Given the description of an element on the screen output the (x, y) to click on. 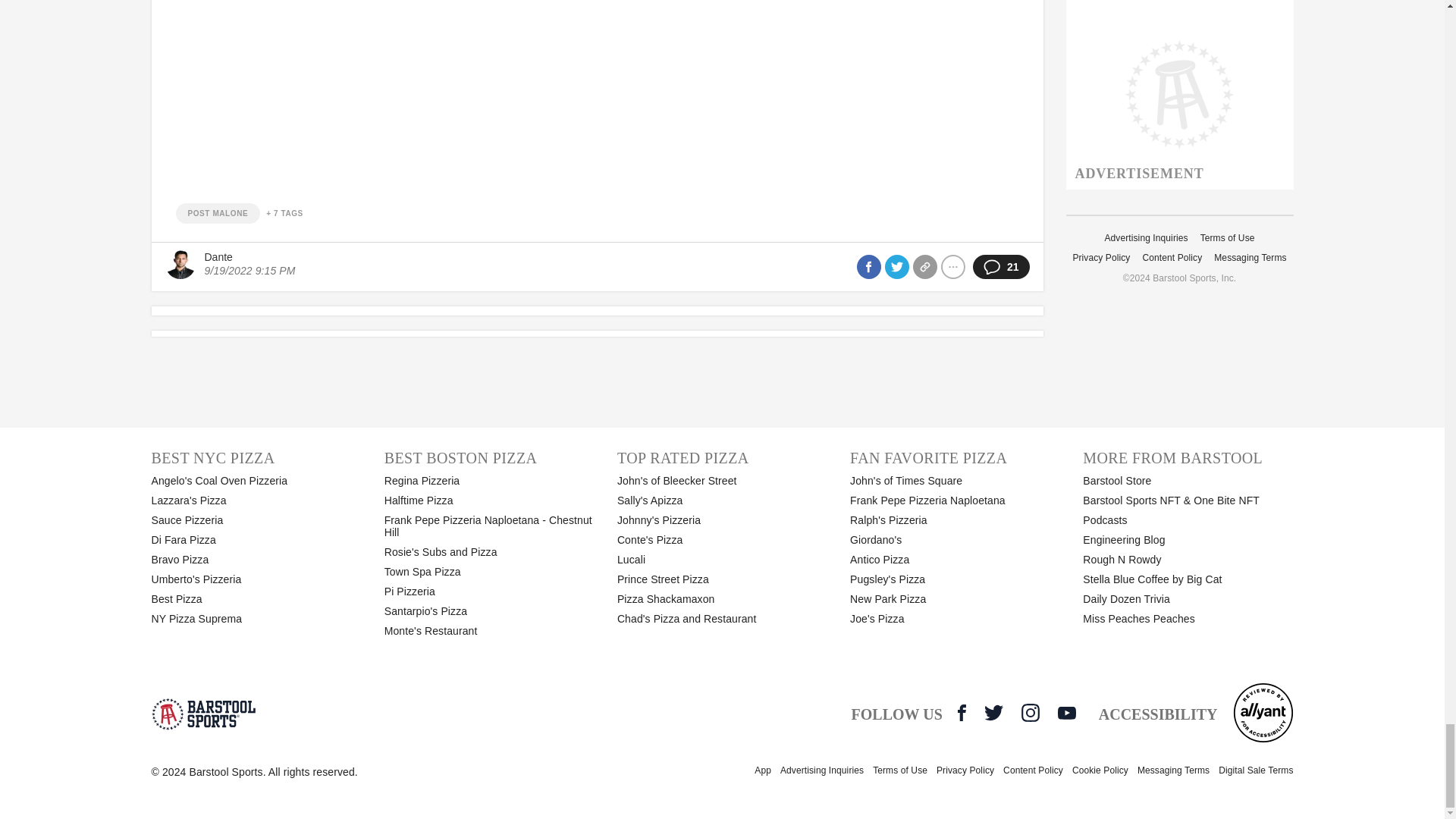
YouTube Icon (1066, 712)
Twitter Icon (993, 712)
Instagram Icon (1030, 712)
Reviewed by Allyant for accessibility (1263, 712)
